Given the description of an element on the screen output the (x, y) to click on. 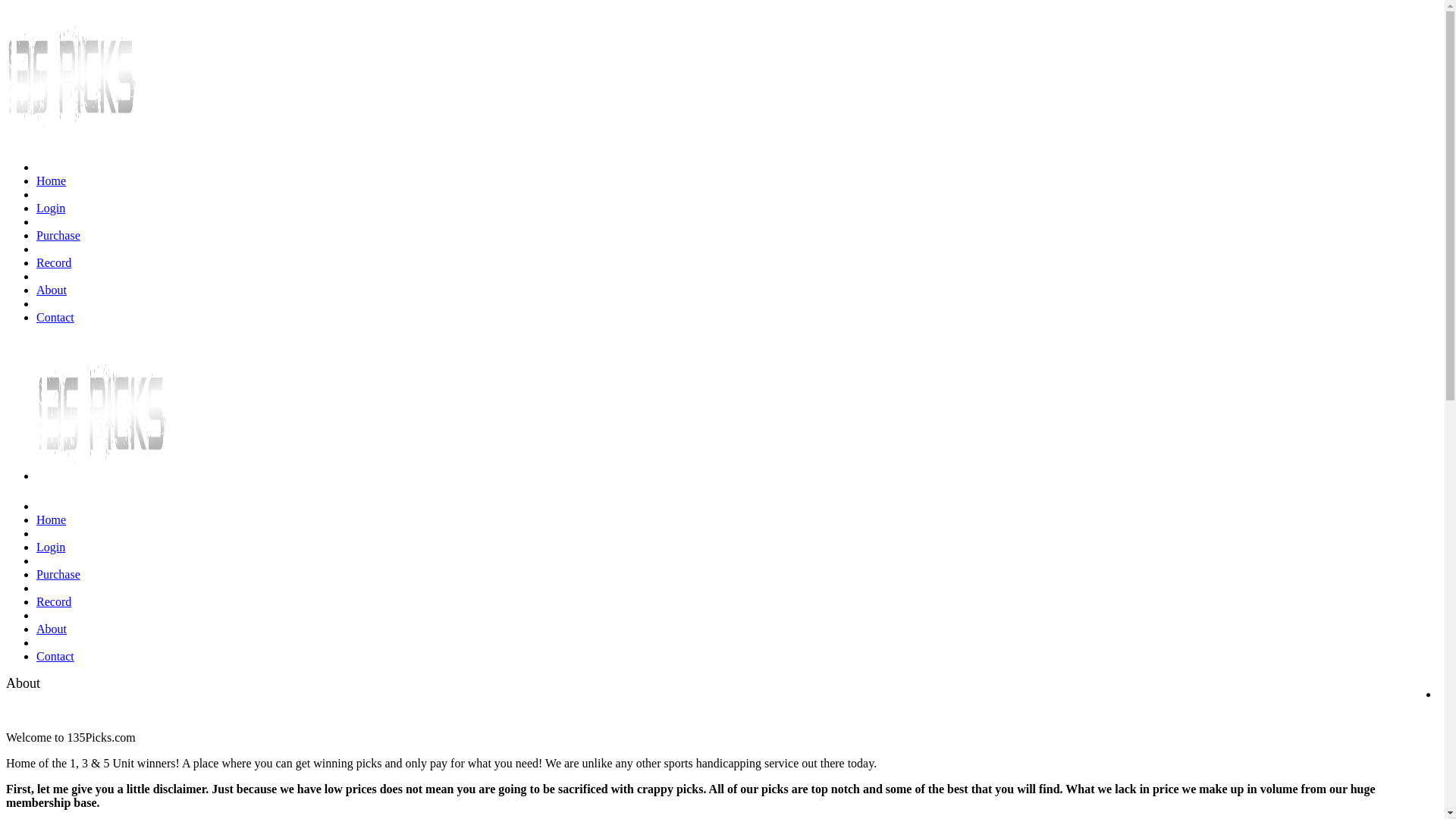
About Element type: text (51, 289)
Purchase Element type: text (58, 235)
Contact Element type: text (55, 655)
Login Element type: text (50, 207)
Home Element type: text (50, 180)
Record Element type: text (53, 262)
Purchase Element type: text (58, 573)
Home Element type: text (50, 519)
Contact Element type: text (55, 316)
About Element type: text (51, 628)
Login Element type: text (50, 546)
Record Element type: text (53, 601)
About Element type: text (23, 682)
